Given the description of an element on the screen output the (x, y) to click on. 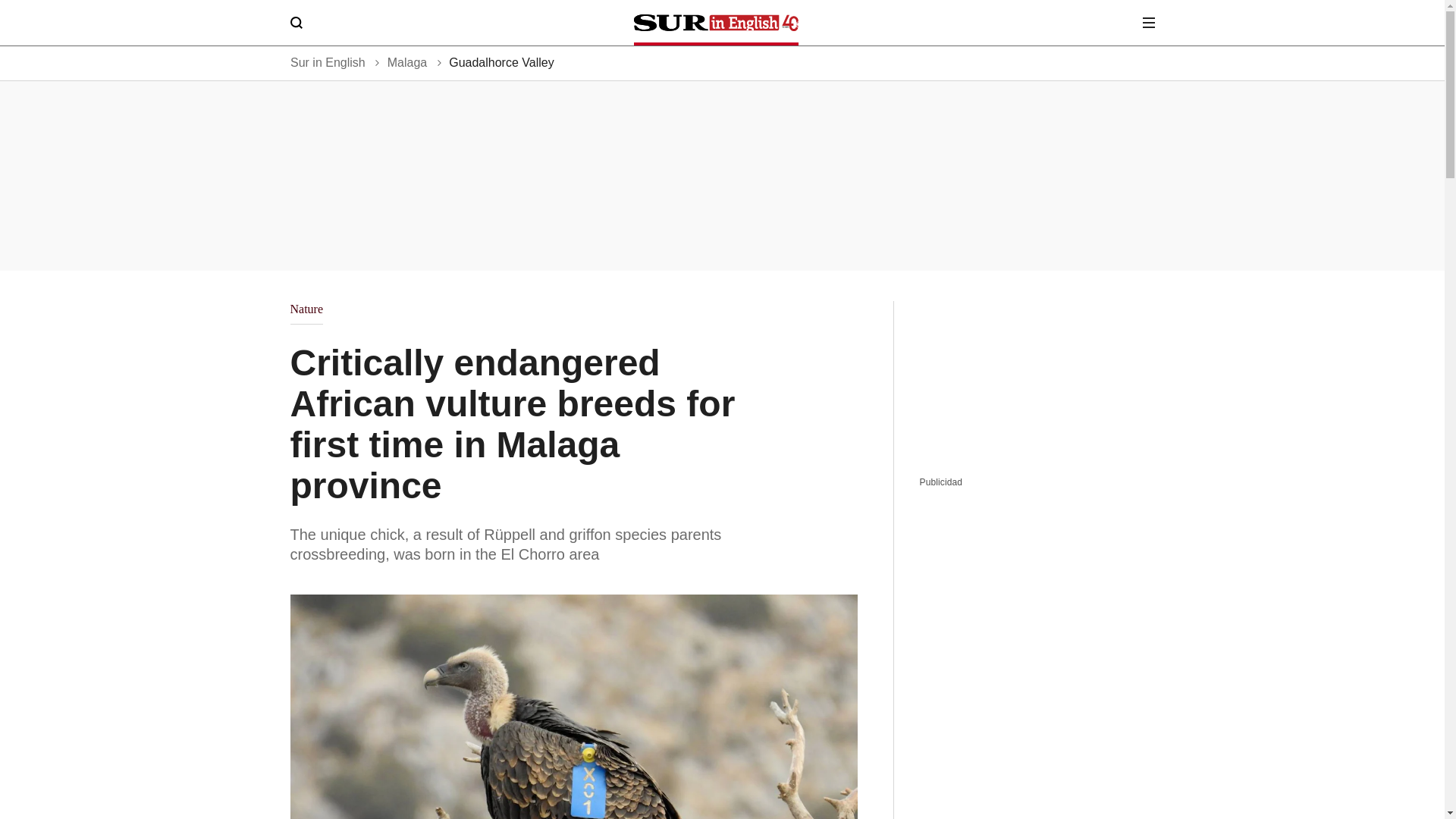
surinenglish (716, 22)
